Given the description of an element on the screen output the (x, y) to click on. 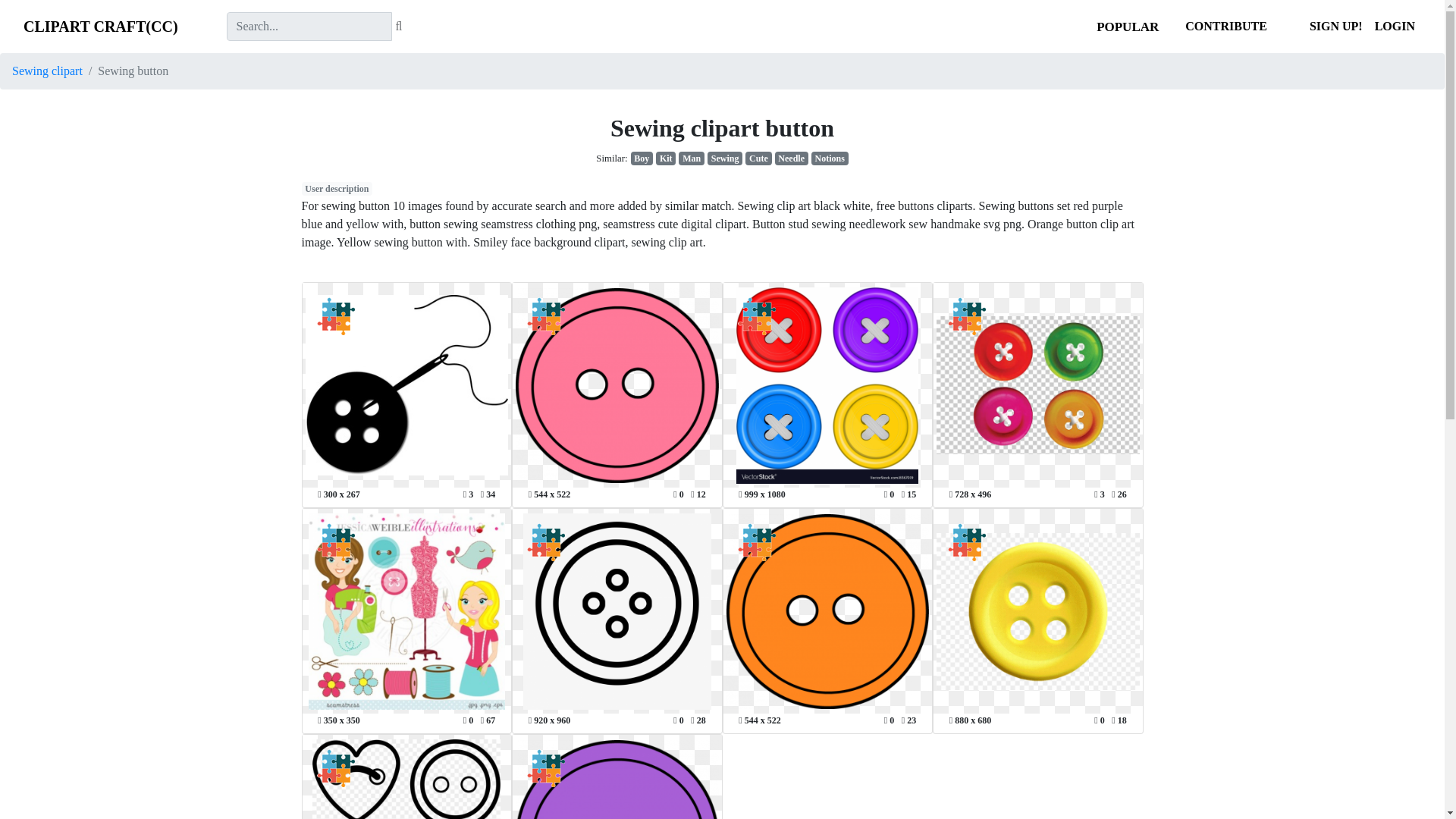
SIGN UP! (1335, 26)
POPULAR (1127, 26)
Boy (641, 158)
Notions (829, 158)
sewing clipart boy (641, 158)
sewing clipart (724, 158)
LOGIN (1394, 26)
Sewing (724, 158)
Man (691, 158)
sewing clipart notions (829, 158)
sewing clipart cute (758, 158)
Kit (665, 158)
Cute (758, 158)
